Given the description of an element on the screen output the (x, y) to click on. 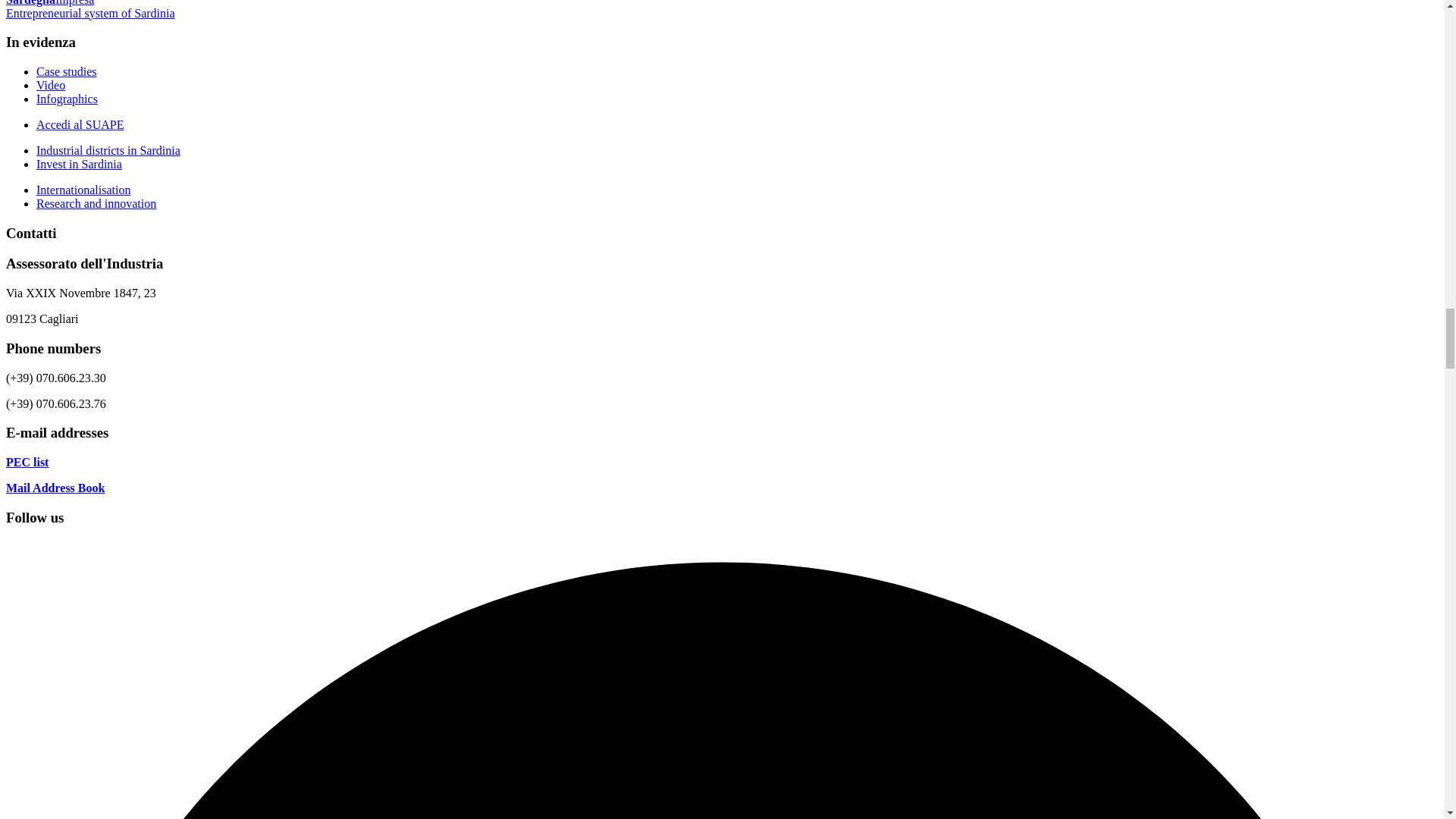
Vai alla pagina "Ricerca e innovazione" (95, 203)
Go to "Case studies" (66, 71)
Vai alla pagina "Internazionalizzazione" (83, 189)
